Given the description of an element on the screen output the (x, y) to click on. 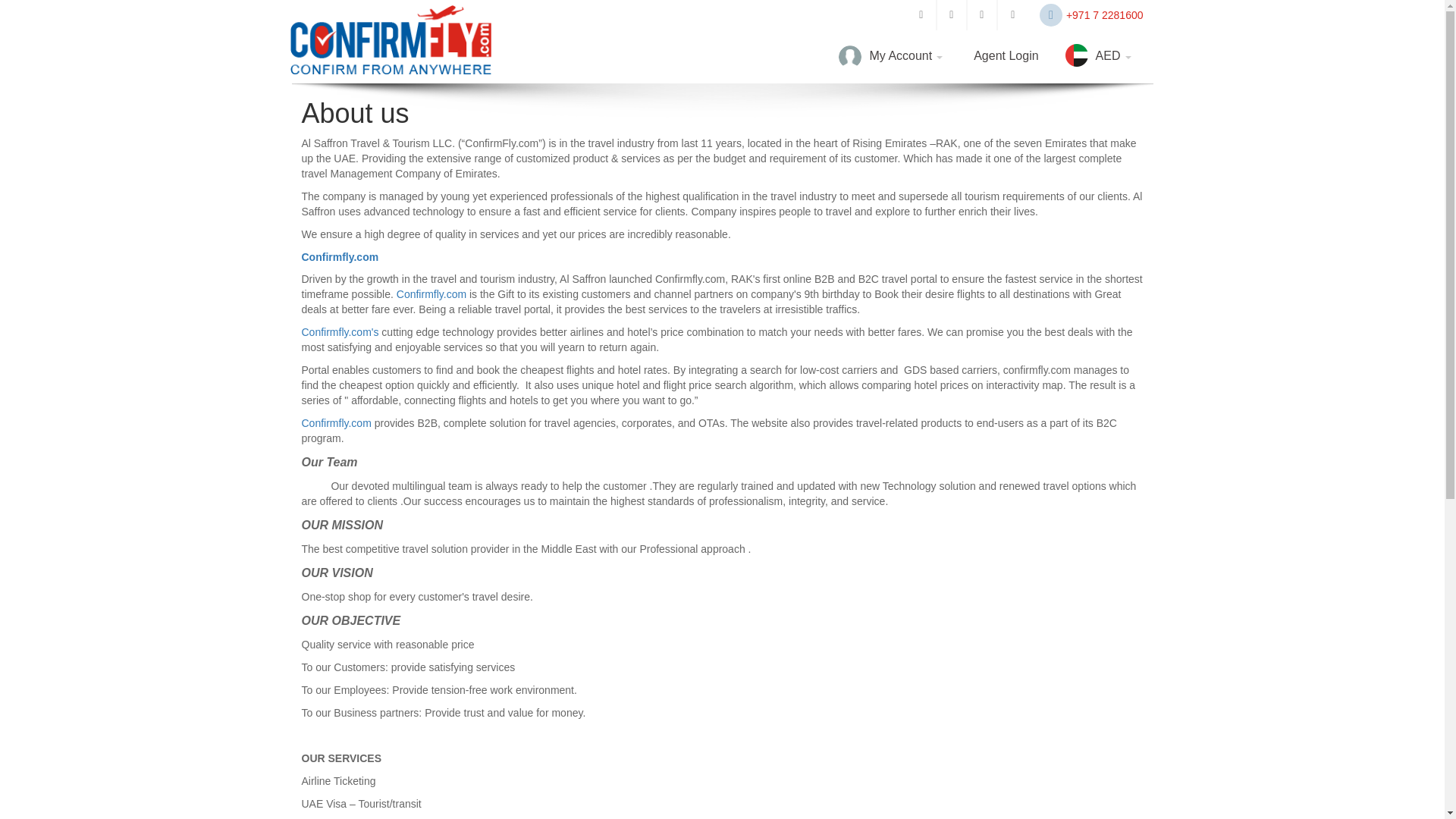
Confirmfly.com (336, 422)
My Account (893, 56)
Confirmfly.com (430, 294)
Confirmfly.com's (339, 331)
AED (1100, 56)
Agent Login (1005, 56)
Confirmfly.com (339, 256)
